Given the description of an element on the screen output the (x, y) to click on. 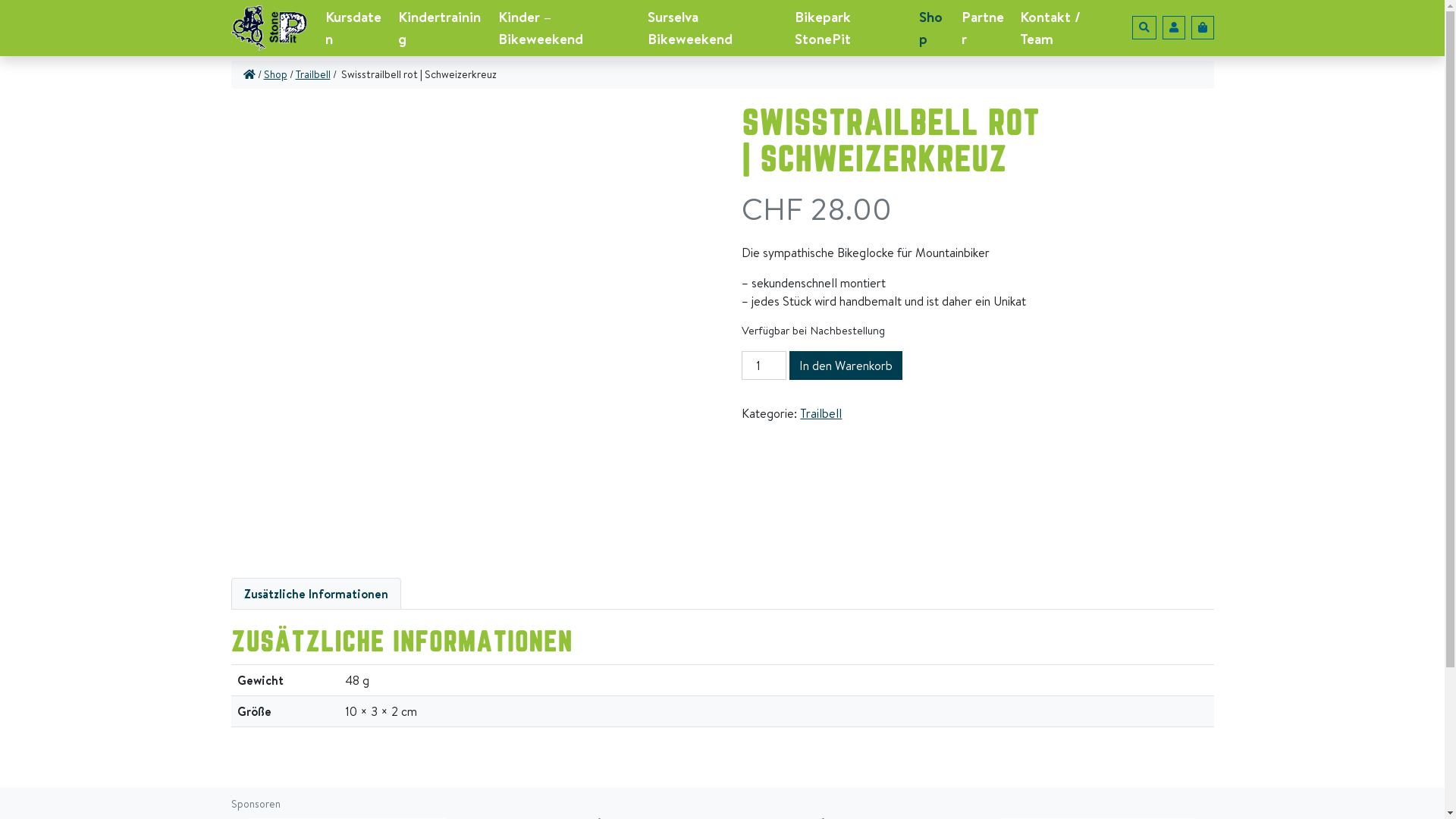
Trailbell Element type: text (820, 412)
Kontakt / Team Element type: text (1063, 28)
Kursdaten Element type: text (355, 28)
Account Element type: text (1172, 27)
Cart Element type: text (1201, 27)
Partner Element type: text (984, 28)
Shop Element type: text (934, 28)
Kindertraining Element type: text (442, 28)
Search Element type: text (1143, 27)
Surselva Bikeweekend Element type: text (714, 28)
In den Warenkorb Element type: text (845, 365)
Trailbell Element type: text (312, 74)
Qty Element type: hover (763, 365)
Bikepark StonePit Element type: text (850, 28)
Shop Element type: text (275, 74)
